Given the description of an element on the screen output the (x, y) to click on. 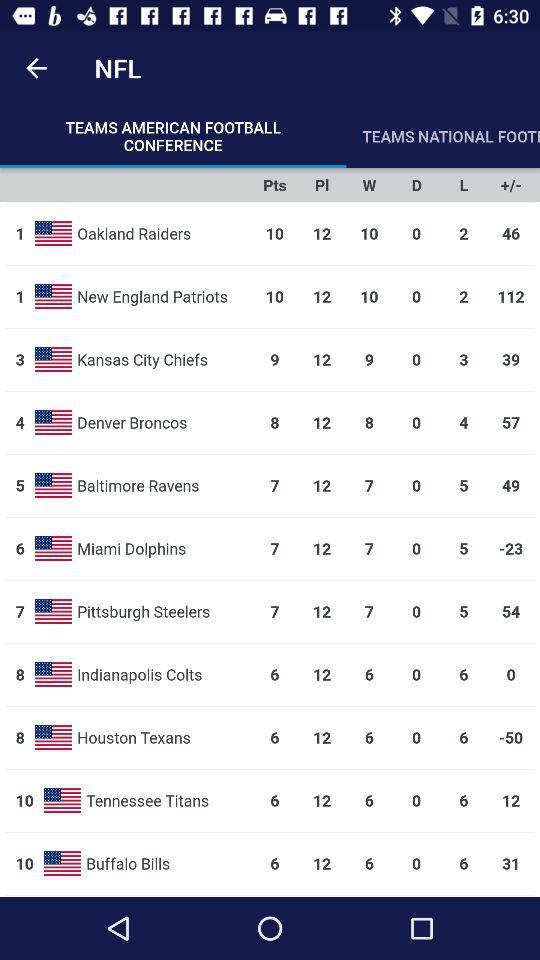
turn off item to the left of the nfl icon (36, 68)
